Given the description of an element on the screen output the (x, y) to click on. 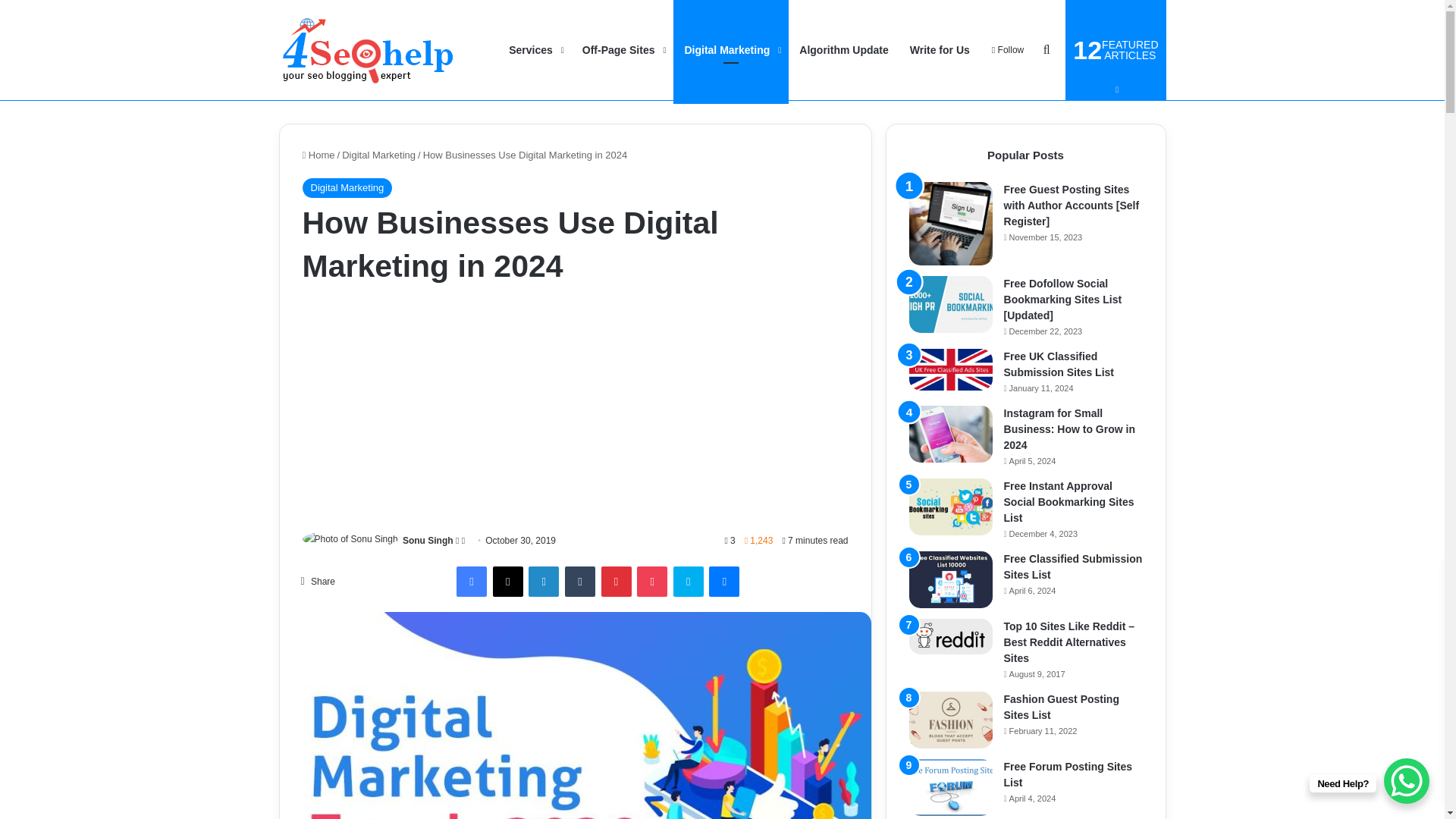
Sonu Singh (427, 540)
4 SEO Help (368, 50)
Off-Page Sites (623, 49)
Digital Marketing (730, 49)
